Given the description of an element on the screen output the (x, y) to click on. 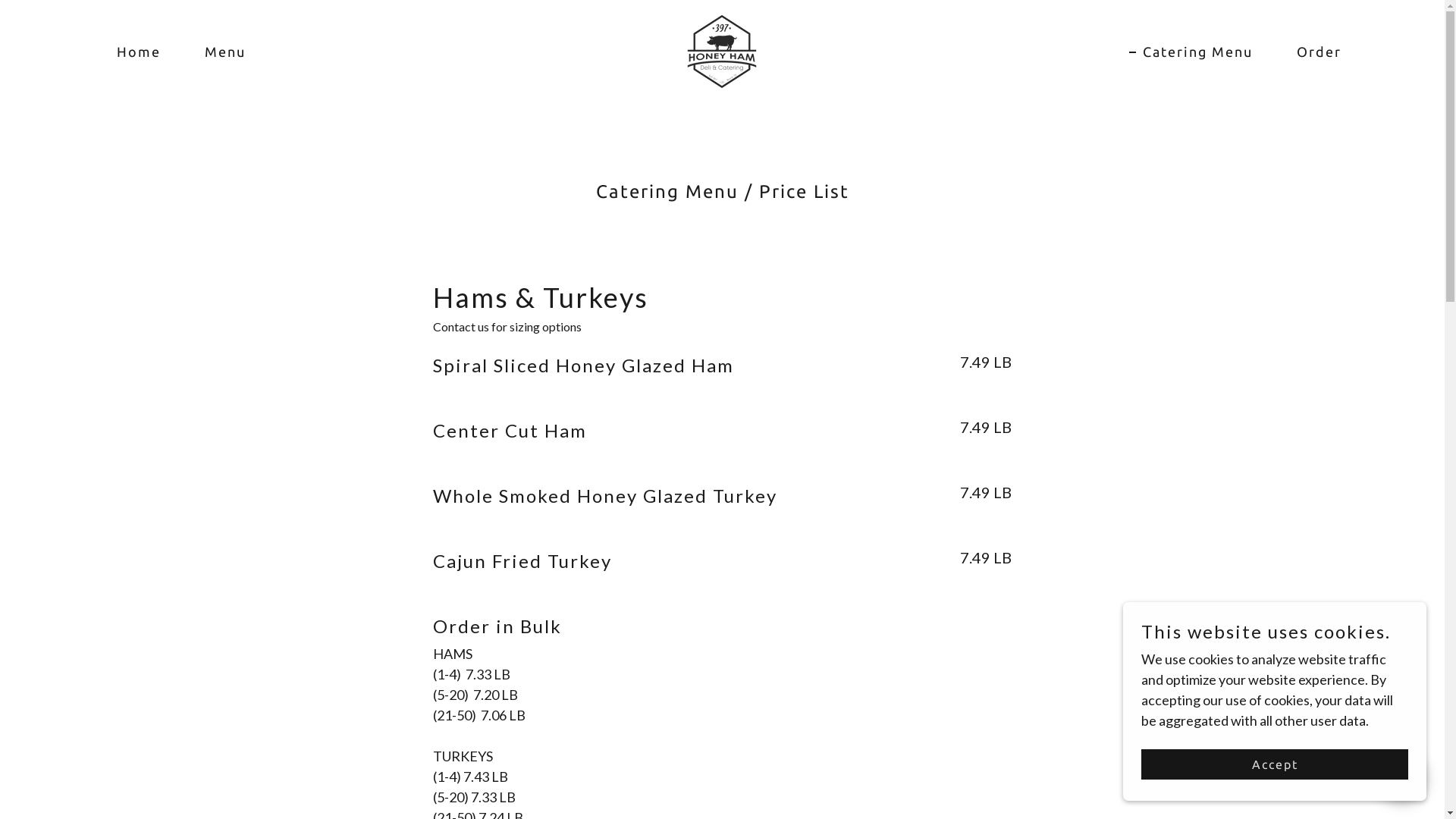
Order Element type: text (1312, 51)
Catering Menu Element type: text (1190, 51)
Accept Element type: text (1274, 764)
Menu Element type: text (218, 51)
Home Element type: text (131, 51)
